Given the description of an element on the screen output the (x, y) to click on. 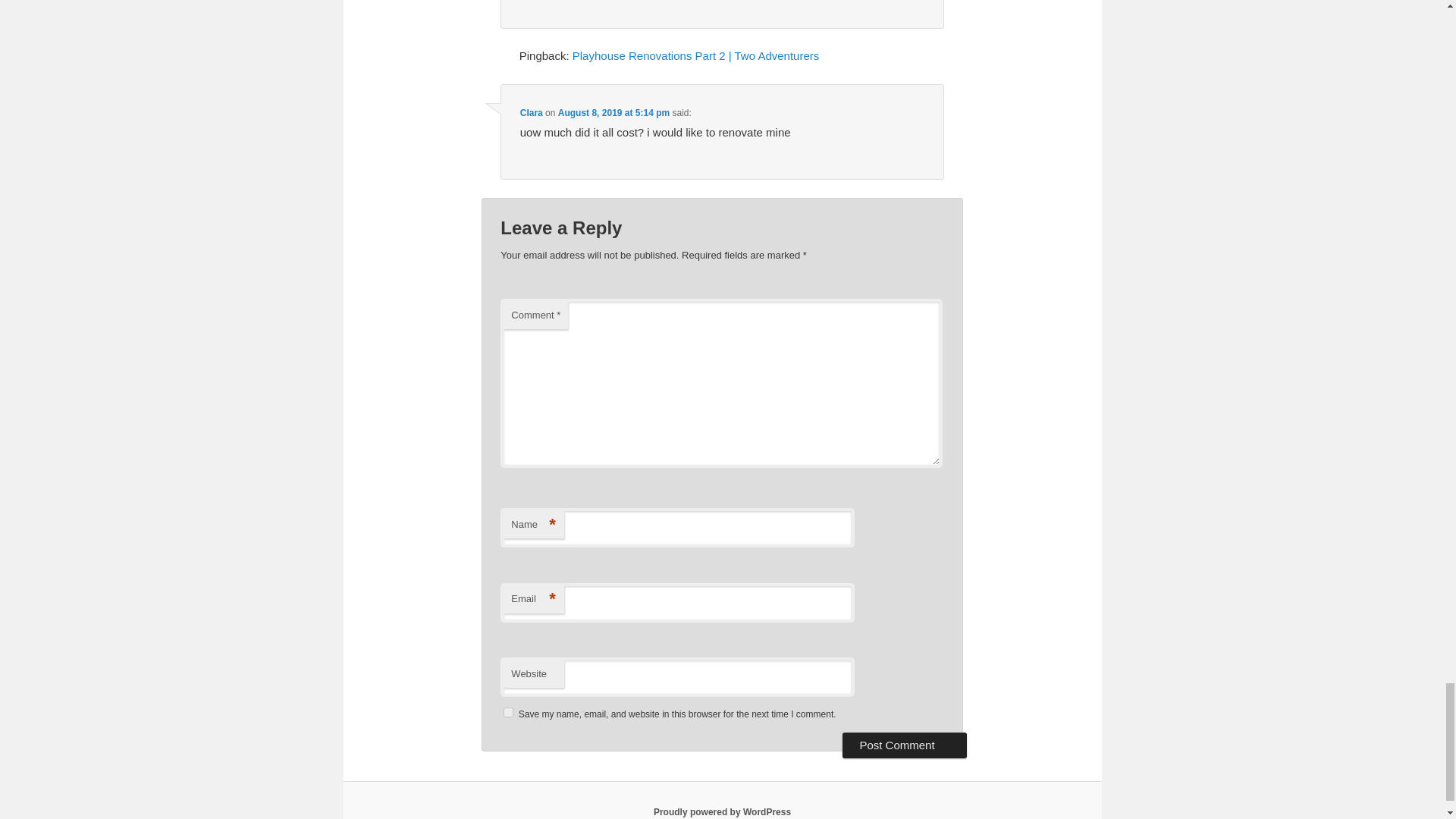
Post Comment (904, 745)
yes (508, 712)
Semantic Personal Publishing Platform (721, 811)
